Given the description of an element on the screen output the (x, y) to click on. 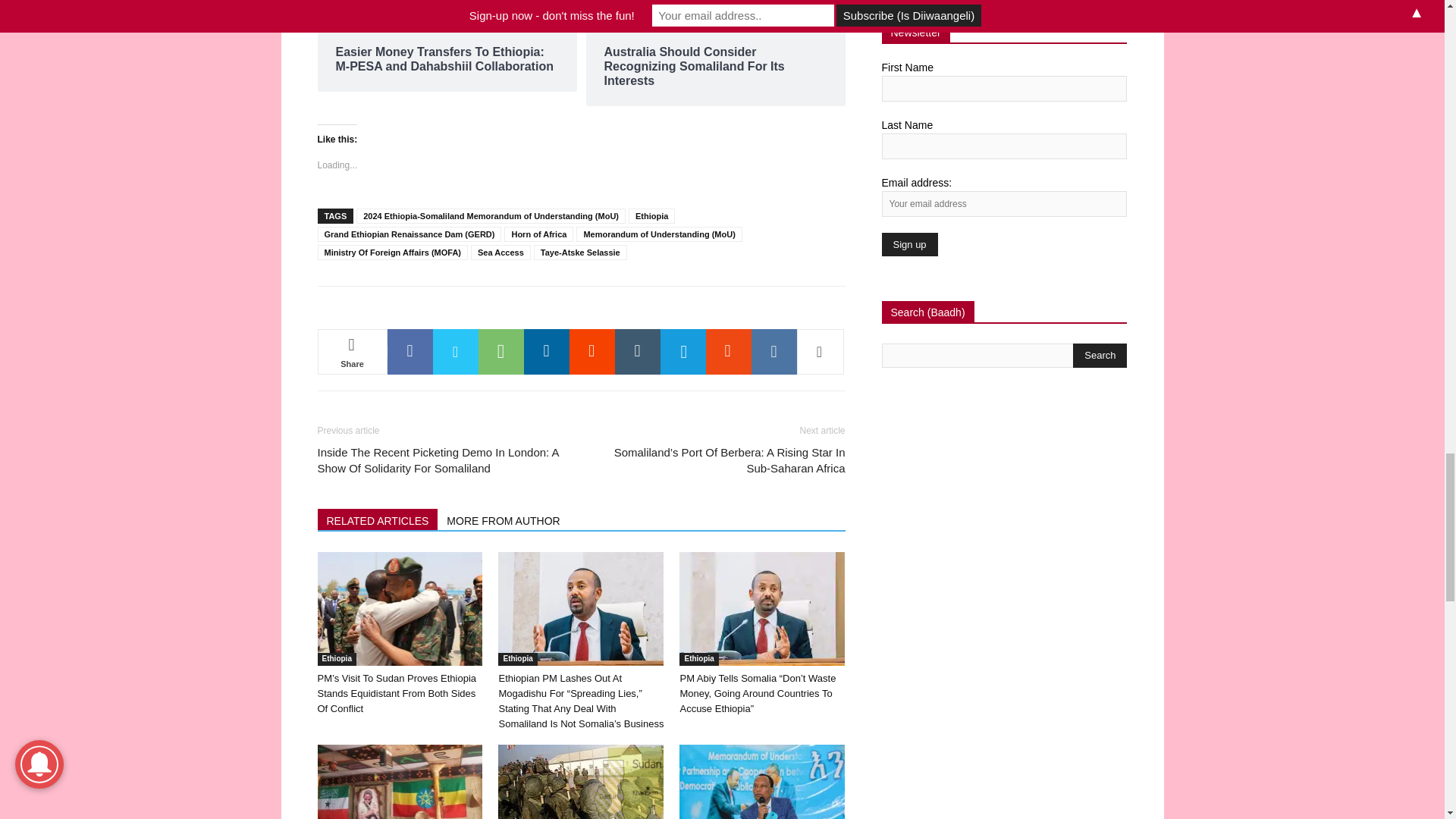
Search (1099, 355)
Sign up (908, 244)
